Given the description of an element on the screen output the (x, y) to click on. 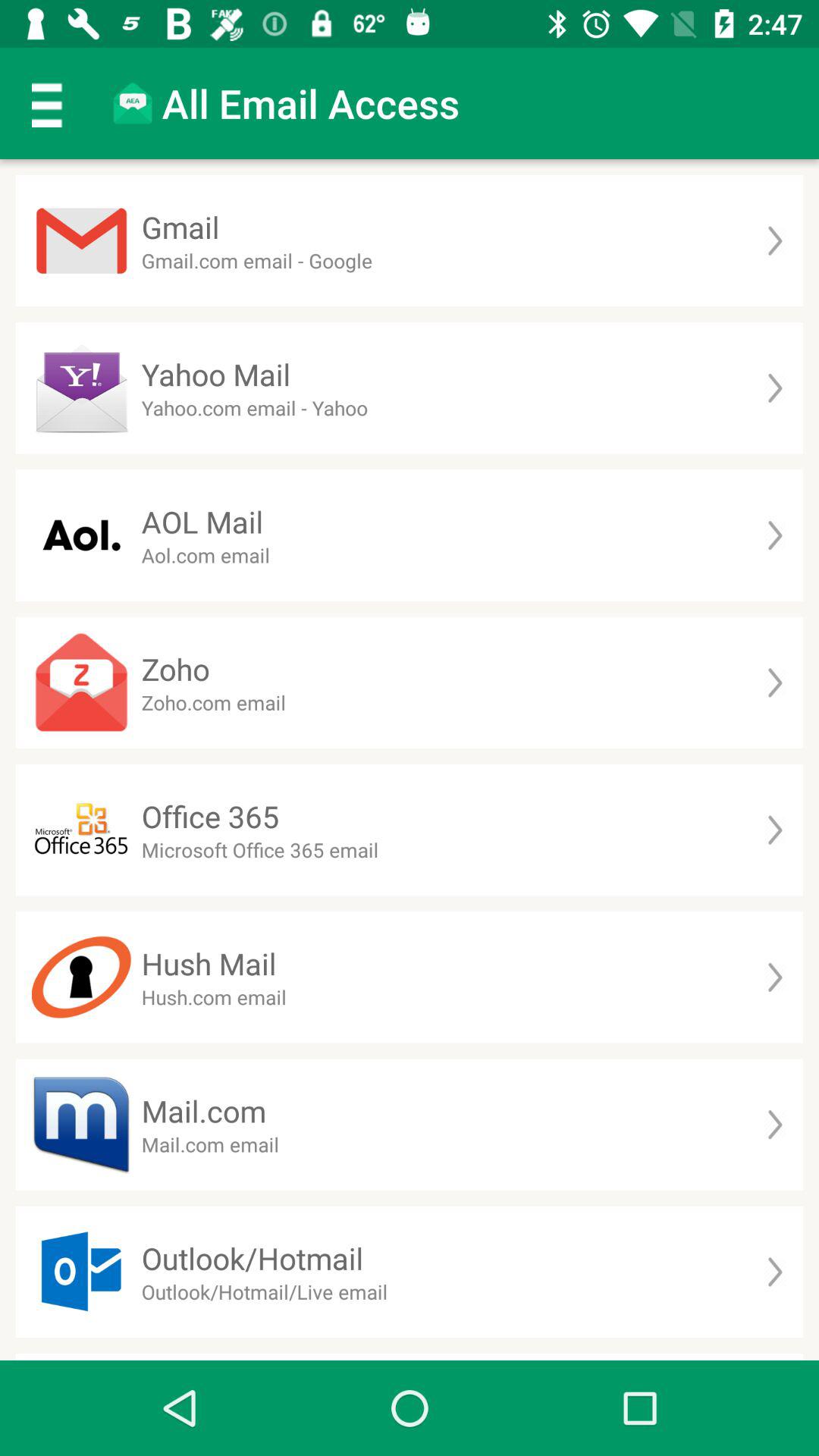
launch app above the hush.com email icon (208, 963)
